Given the description of an element on the screen output the (x, y) to click on. 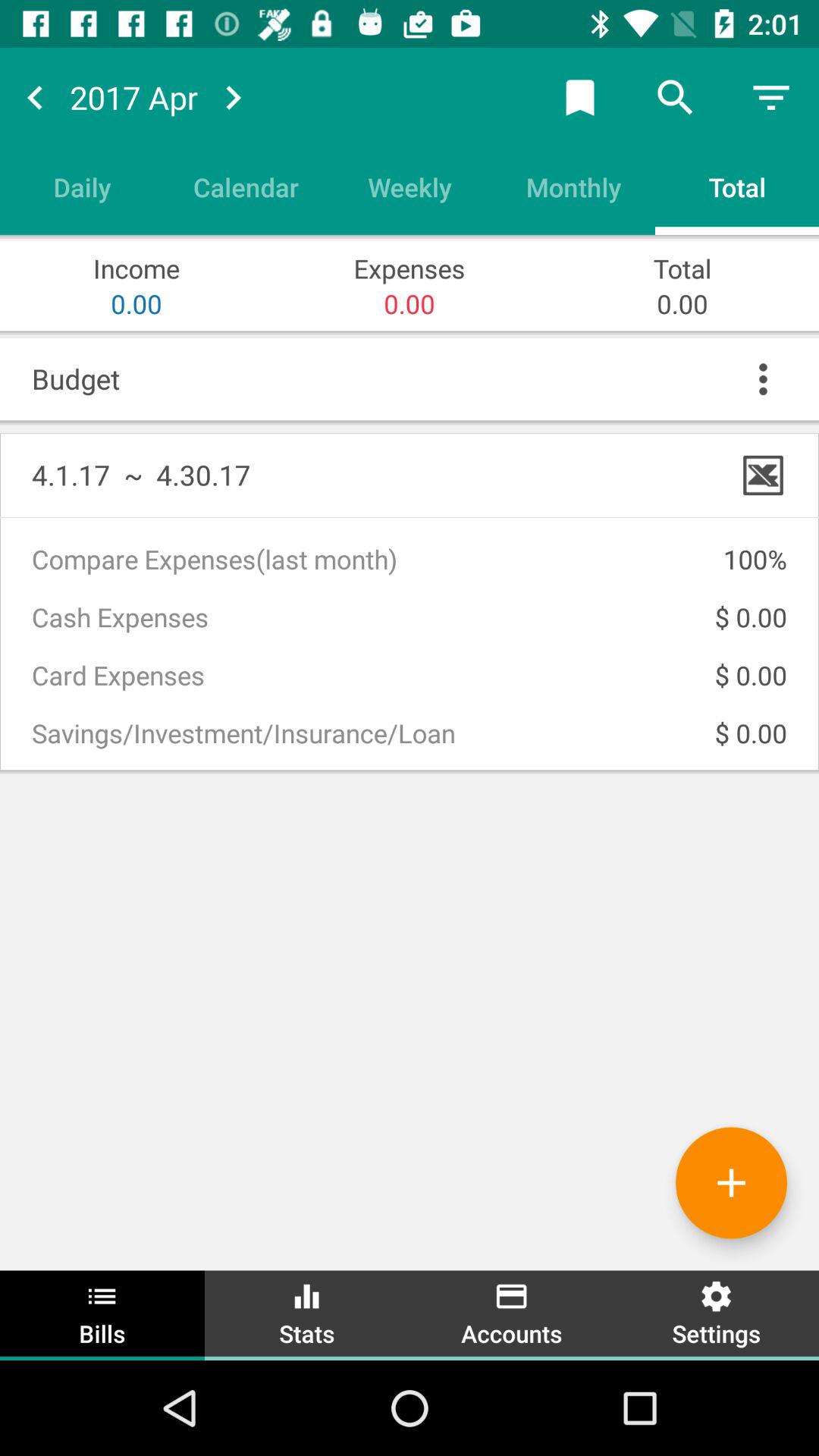
open weekly (409, 186)
